Given the description of an element on the screen output the (x, y) to click on. 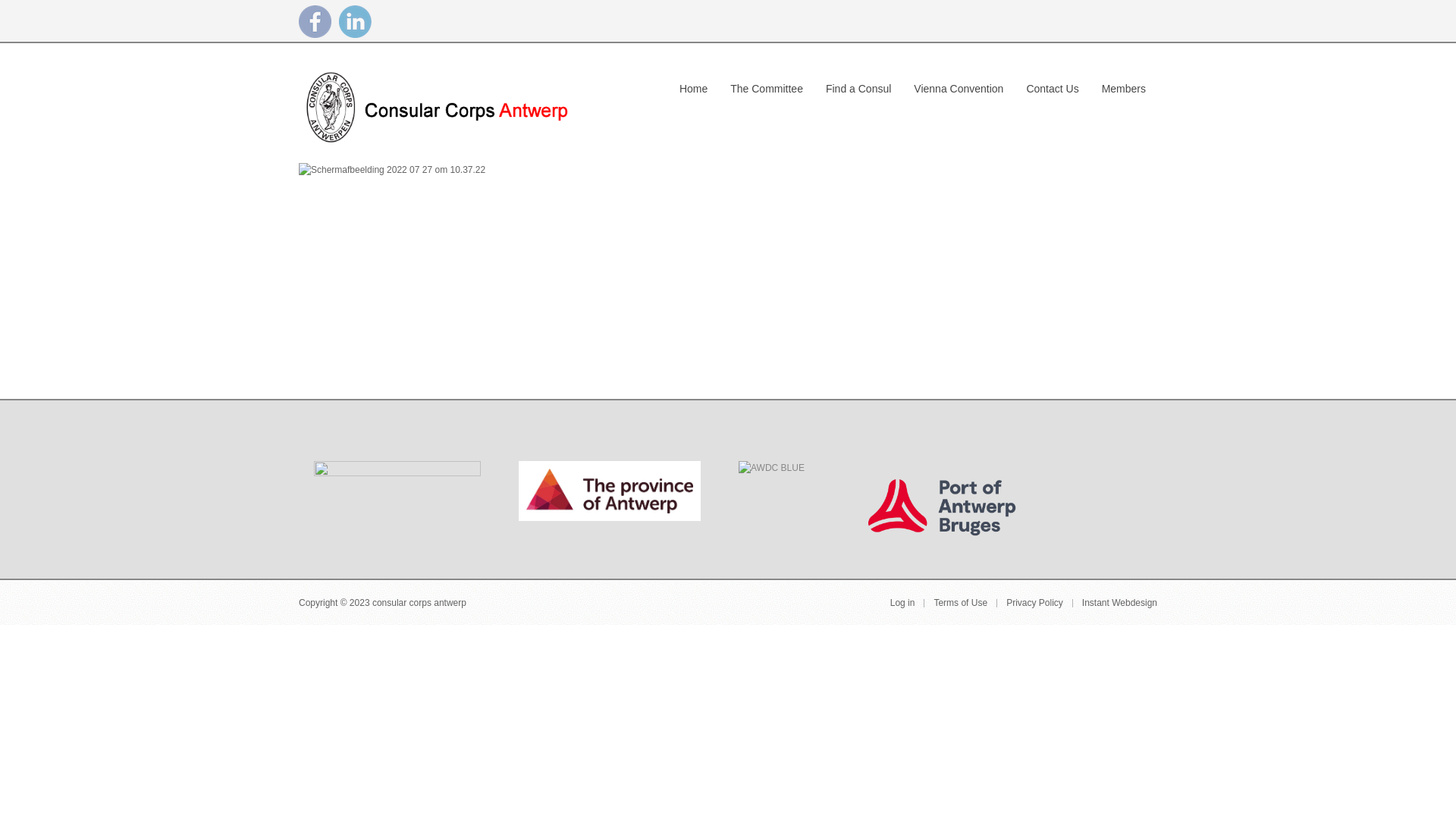
Contact Us Element type: text (1052, 85)
Instant Webdesign Element type: text (1119, 603)
The Committee Element type: text (766, 85)
Terms of Use Element type: text (960, 603)
Vienna Convention Element type: text (958, 85)
Home Element type: text (693, 85)
Members Element type: text (1123, 85)
Find a Consul Element type: text (858, 85)
Privacy Policy Element type: text (1034, 603)
Log in Element type: text (902, 603)
